Given the description of an element on the screen output the (x, y) to click on. 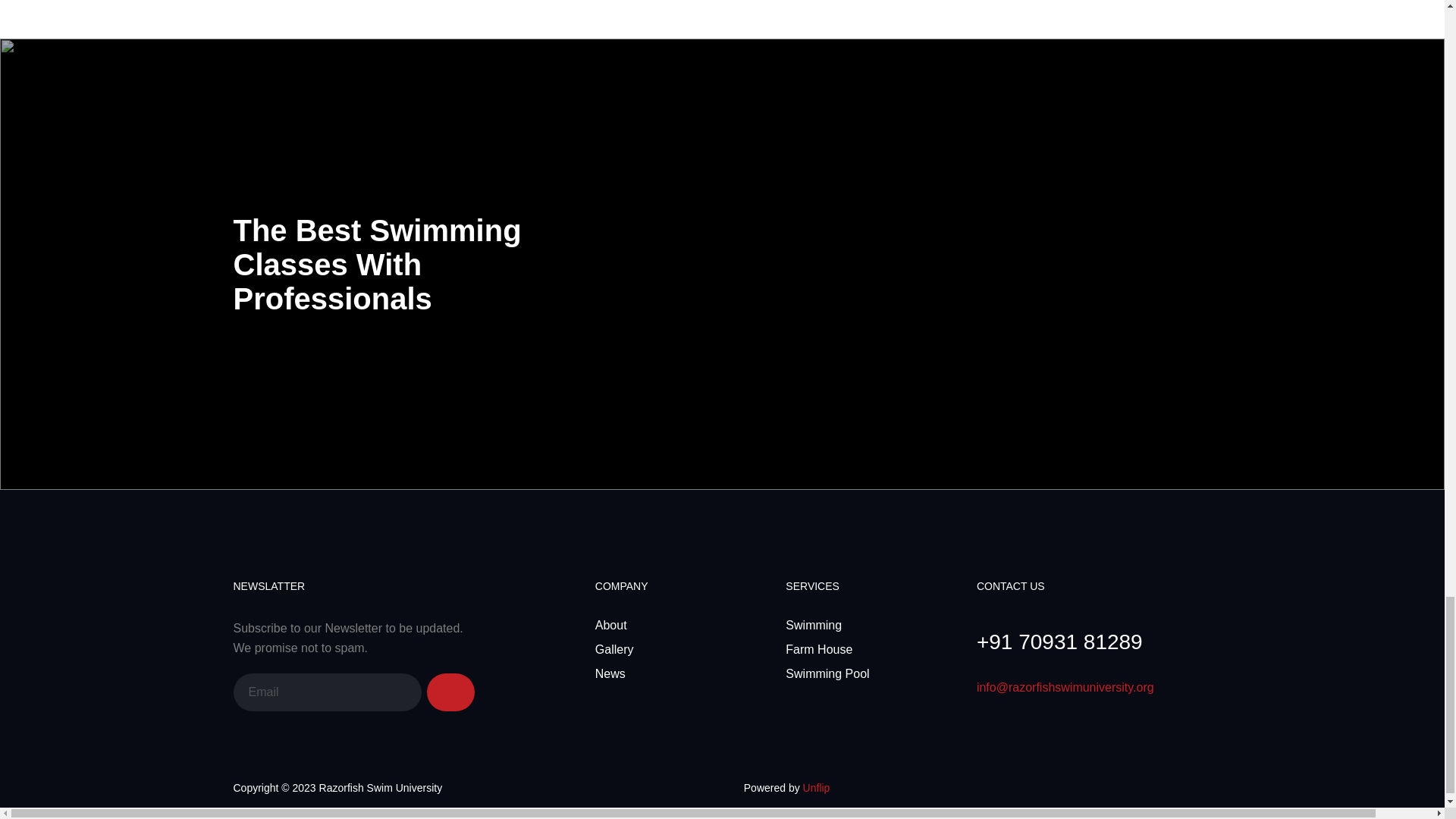
About (611, 625)
Gallery (614, 649)
